Given the description of an element on the screen output the (x, y) to click on. 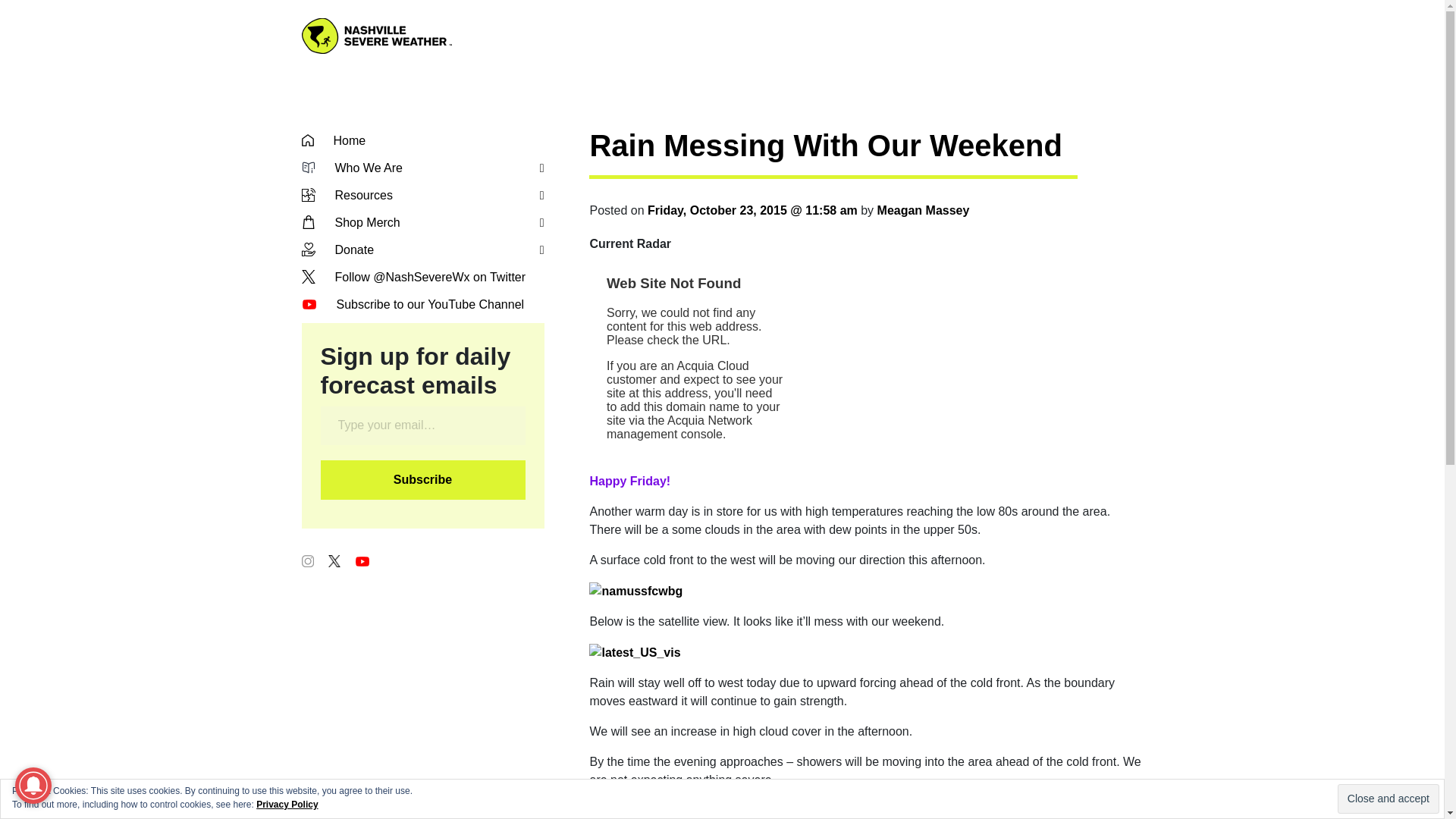
Who We Are (422, 167)
Shop Merch (422, 222)
11:58 am (752, 210)
Resources (422, 195)
Please fill in this field. (422, 425)
Close and accept (1388, 798)
View all posts by Meagan Massey (923, 210)
Home (422, 140)
